Given the description of an element on the screen output the (x, y) to click on. 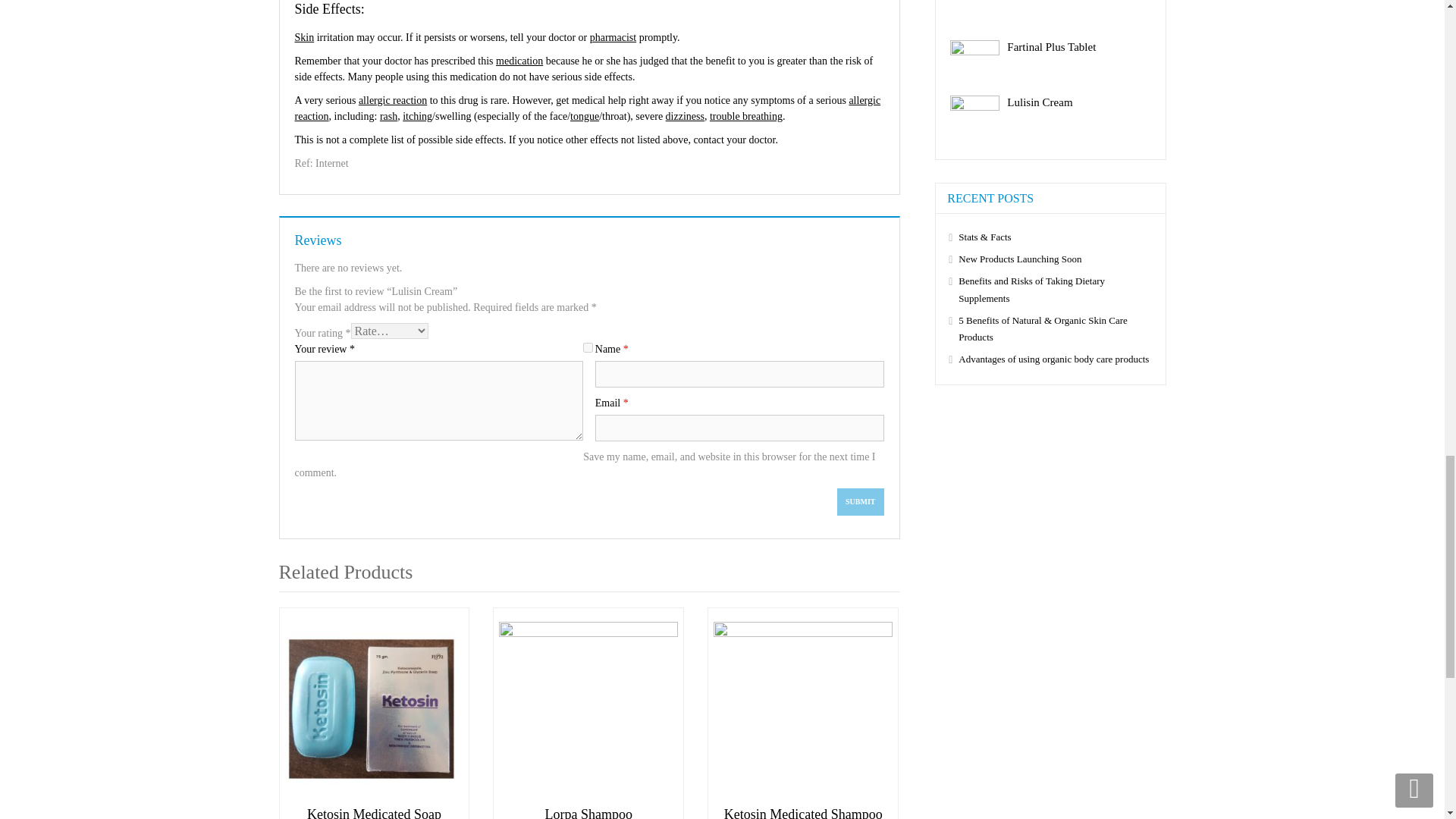
Submit (860, 501)
Ketosin Medicated Soap (374, 812)
Lorpa Shampoo (588, 710)
Ketosin Medicated Shampoo (802, 710)
Ketosin Medicated Soap (374, 710)
Ketosin Medicated Shampoo (802, 812)
Lorpa Shampoo (588, 812)
yes (587, 347)
